Given the description of an element on the screen output the (x, y) to click on. 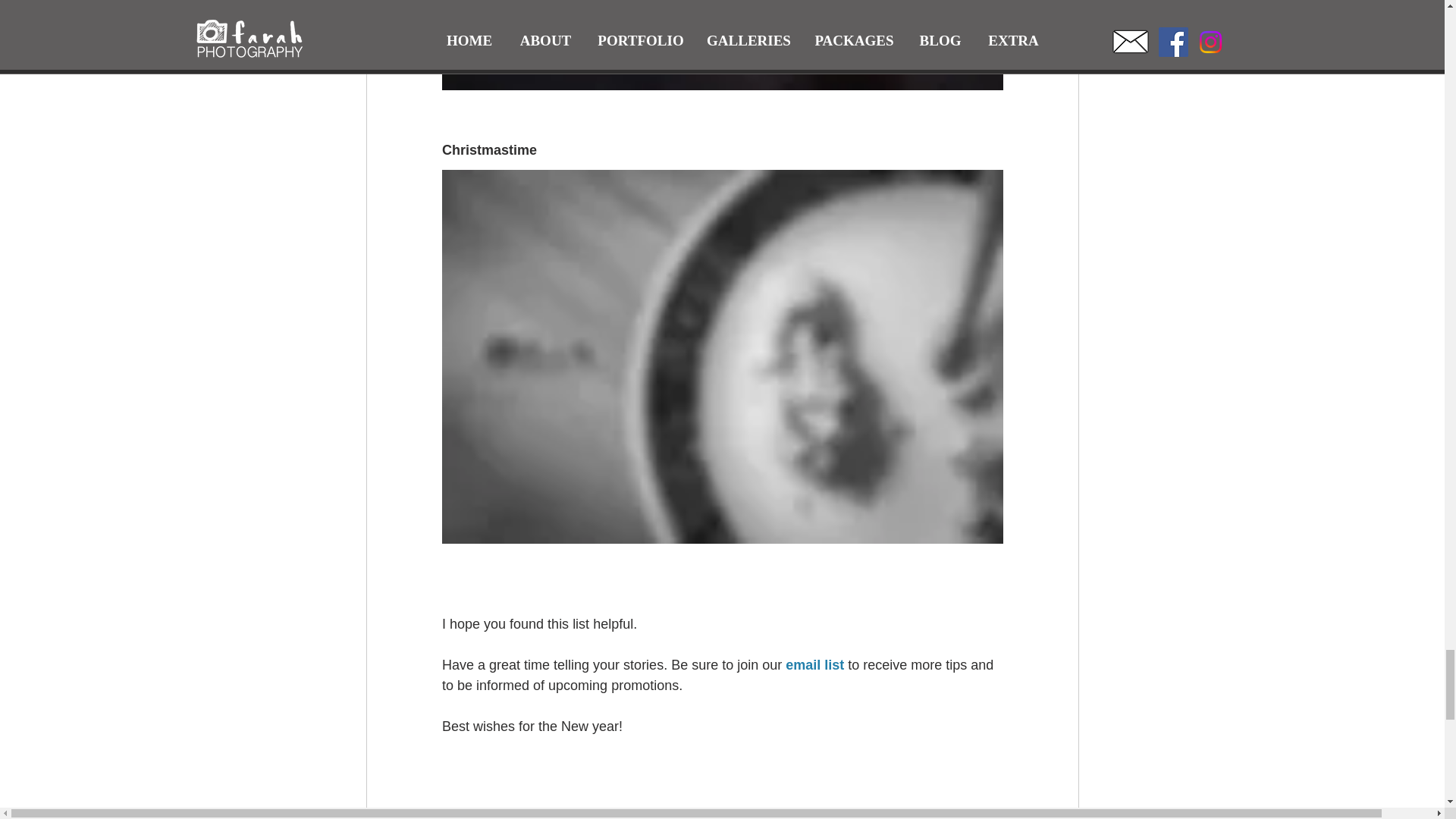
email list (815, 664)
